Given the description of an element on the screen output the (x, y) to click on. 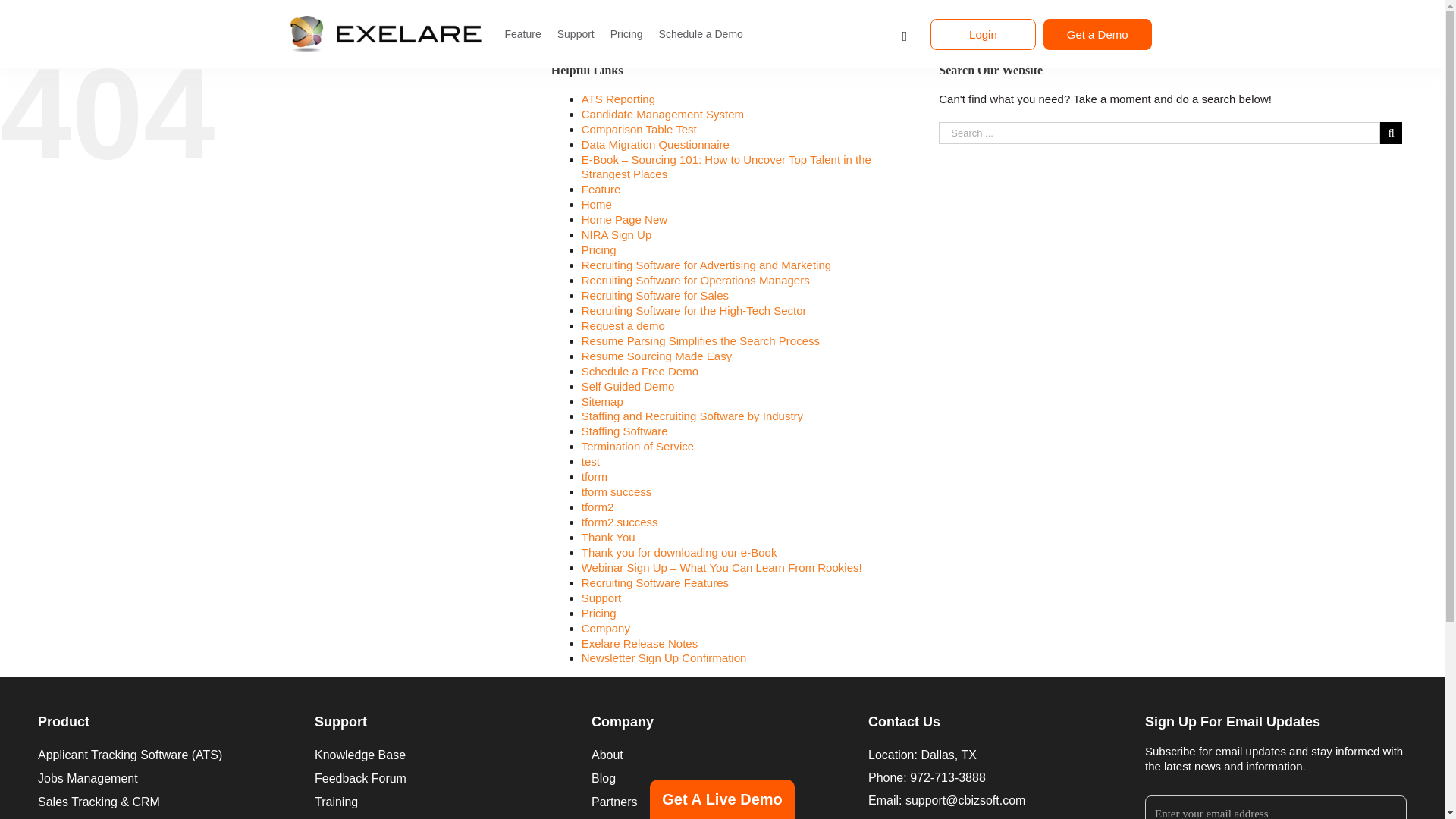
Home Page New (623, 219)
Support (576, 33)
Feature (600, 188)
Pricing (597, 249)
Data Migration Questionnaire (654, 144)
Comparison Table Test (638, 128)
Candidate Management System (662, 113)
Feature (522, 33)
Login (982, 33)
Pricing (626, 33)
